Given the description of an element on the screen output the (x, y) to click on. 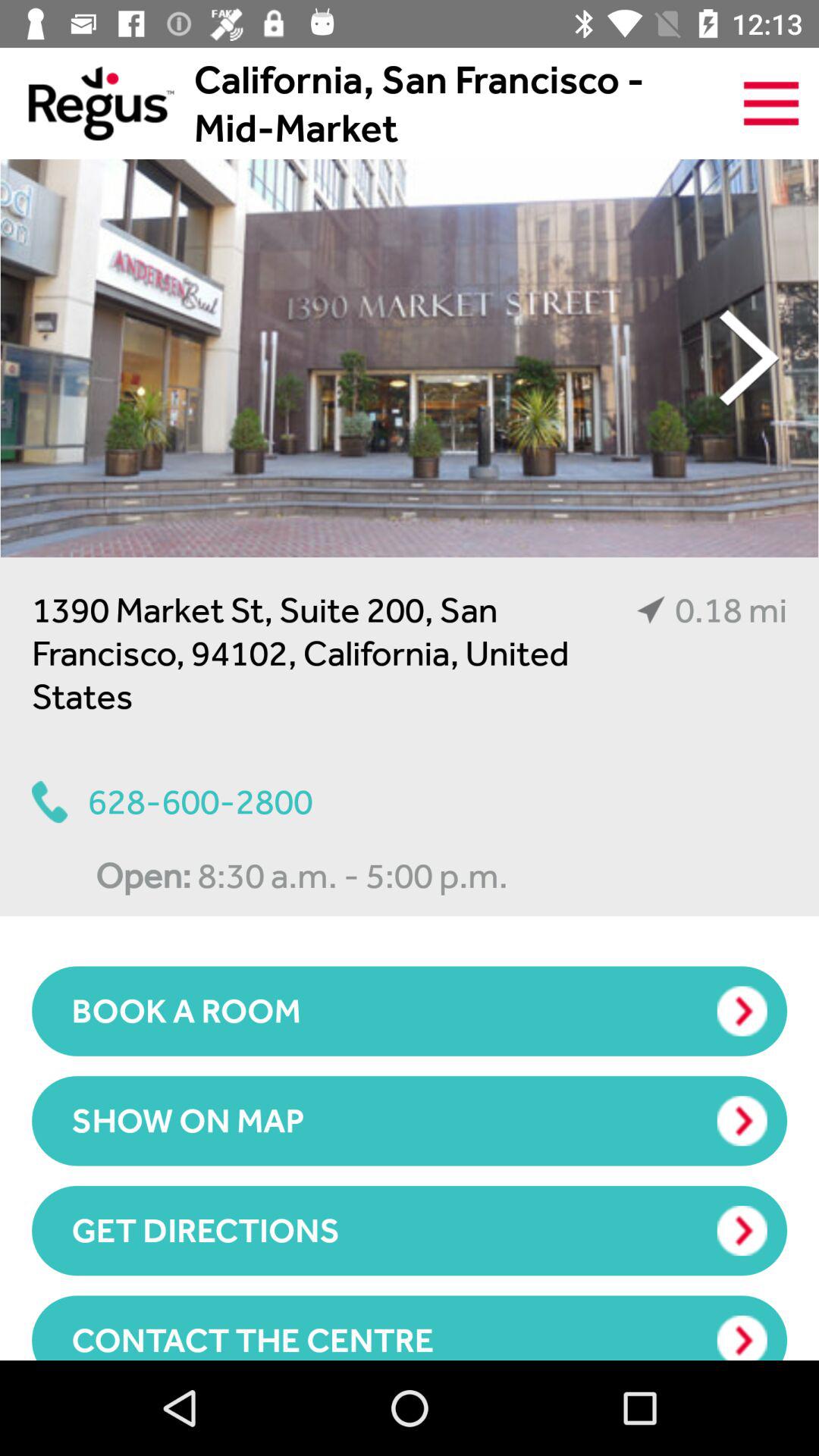
next page (749, 358)
